Given the description of an element on the screen output the (x, y) to click on. 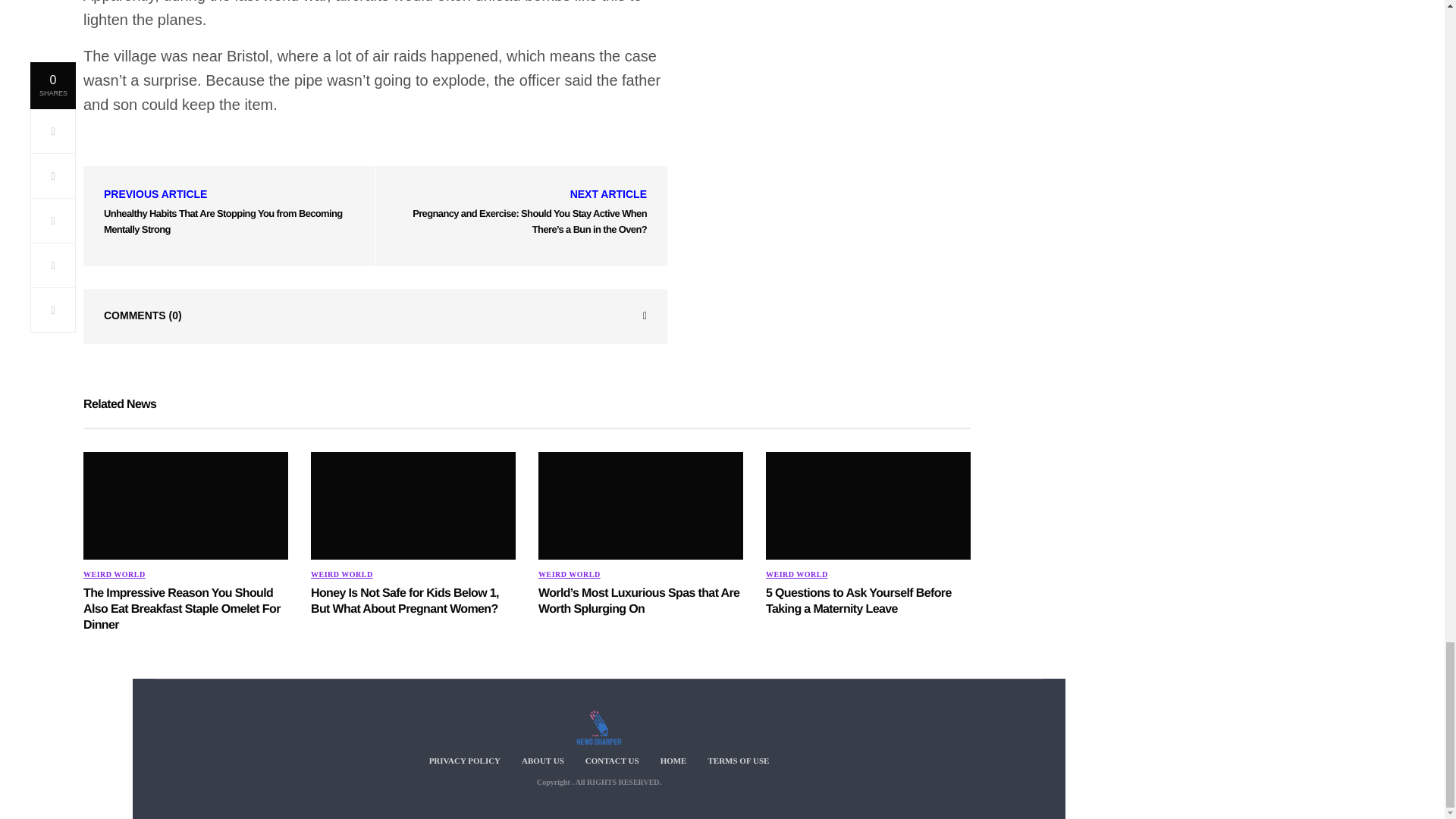
Weird World (568, 574)
Weird World (341, 574)
Weird World (113, 574)
